Given the description of an element on the screen output the (x, y) to click on. 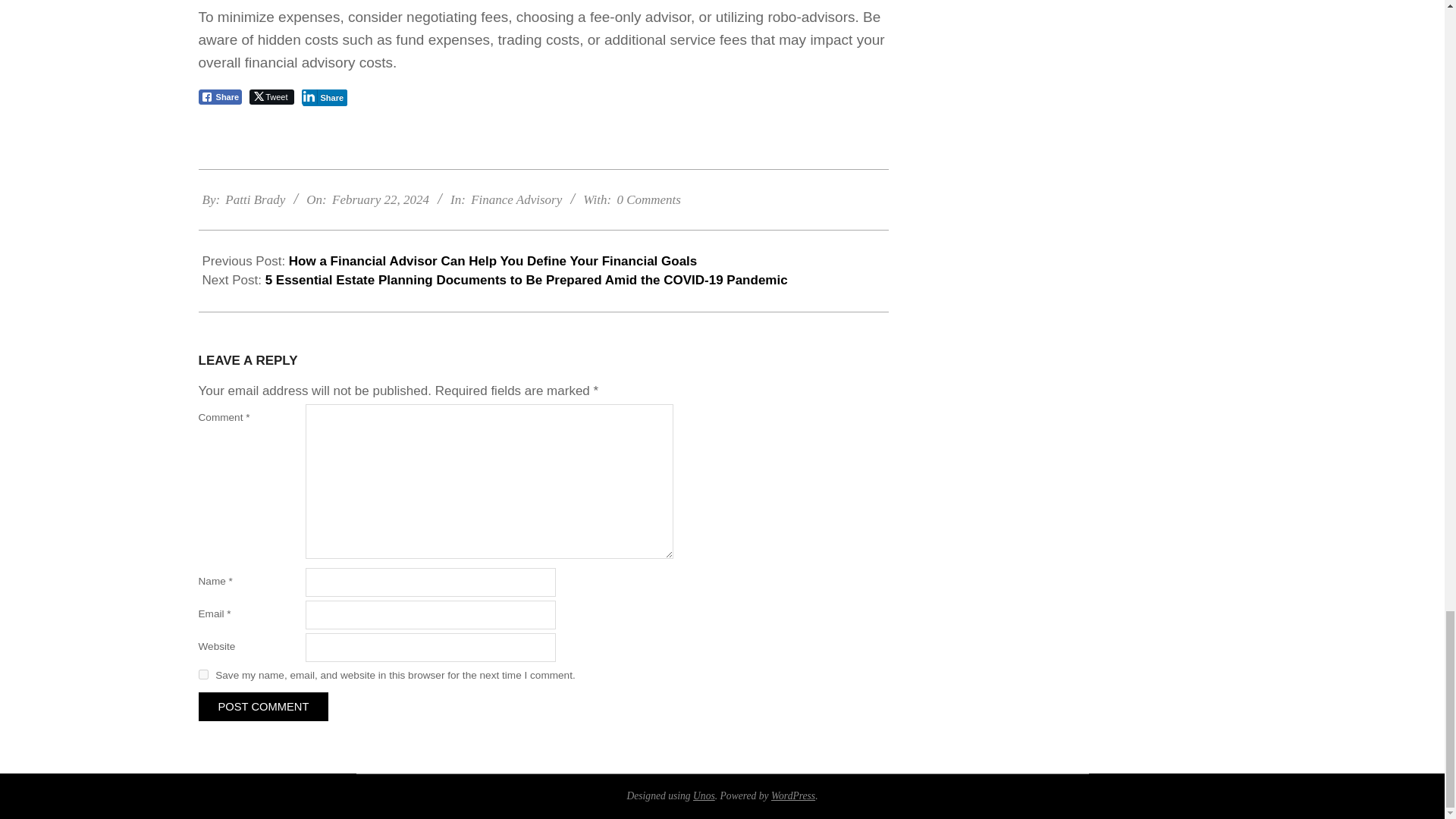
Post Comment (263, 706)
Thursday, February 22, 2024, 11:09 pm (380, 199)
Post Comment (263, 706)
Posts by Patti Brady (255, 199)
Unos WordPress Theme (703, 795)
WordPress (793, 795)
Unos (703, 795)
Patti Brady (255, 199)
Finance Advisory (516, 199)
